Given the description of an element on the screen output the (x, y) to click on. 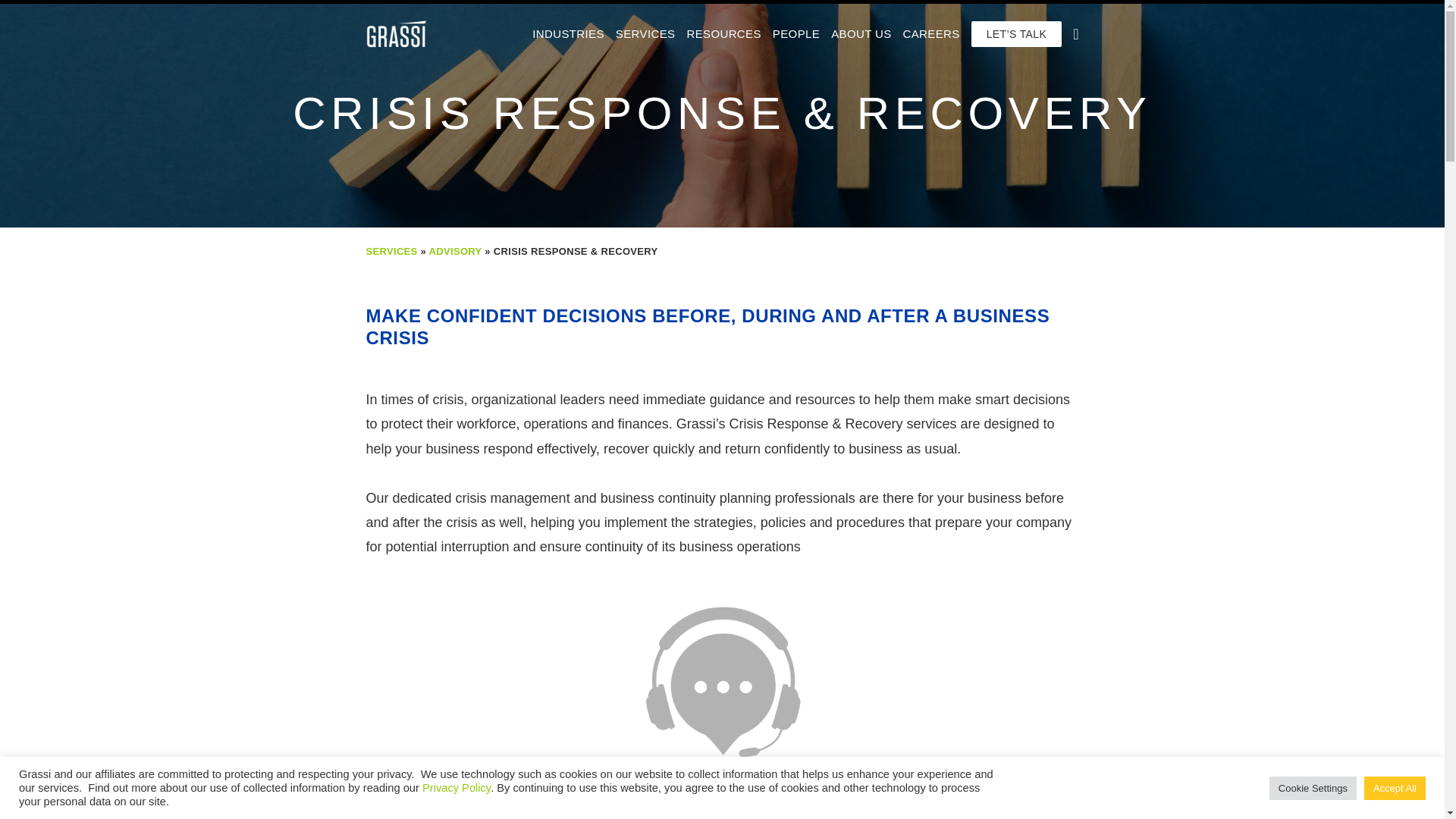
INDUSTRIES (568, 33)
SERVICES (645, 33)
